Given the description of an element on the screen output the (x, y) to click on. 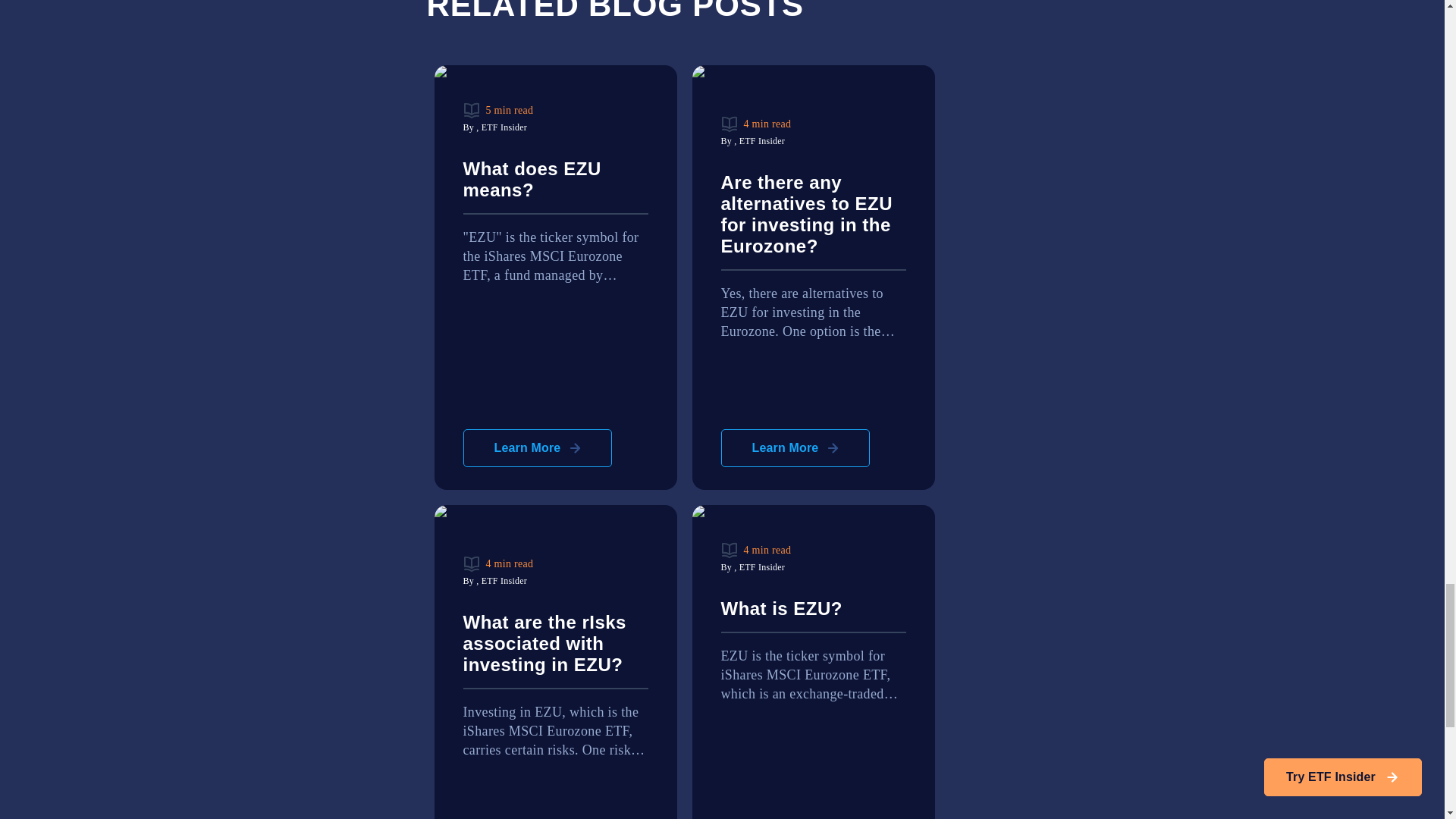
Learn More (537, 447)
What are the rIsks associated with investing in EZU? (555, 650)
What does EZU means? (555, 186)
Learn More (794, 447)
What is EZU? (812, 615)
